Given the description of an element on the screen output the (x, y) to click on. 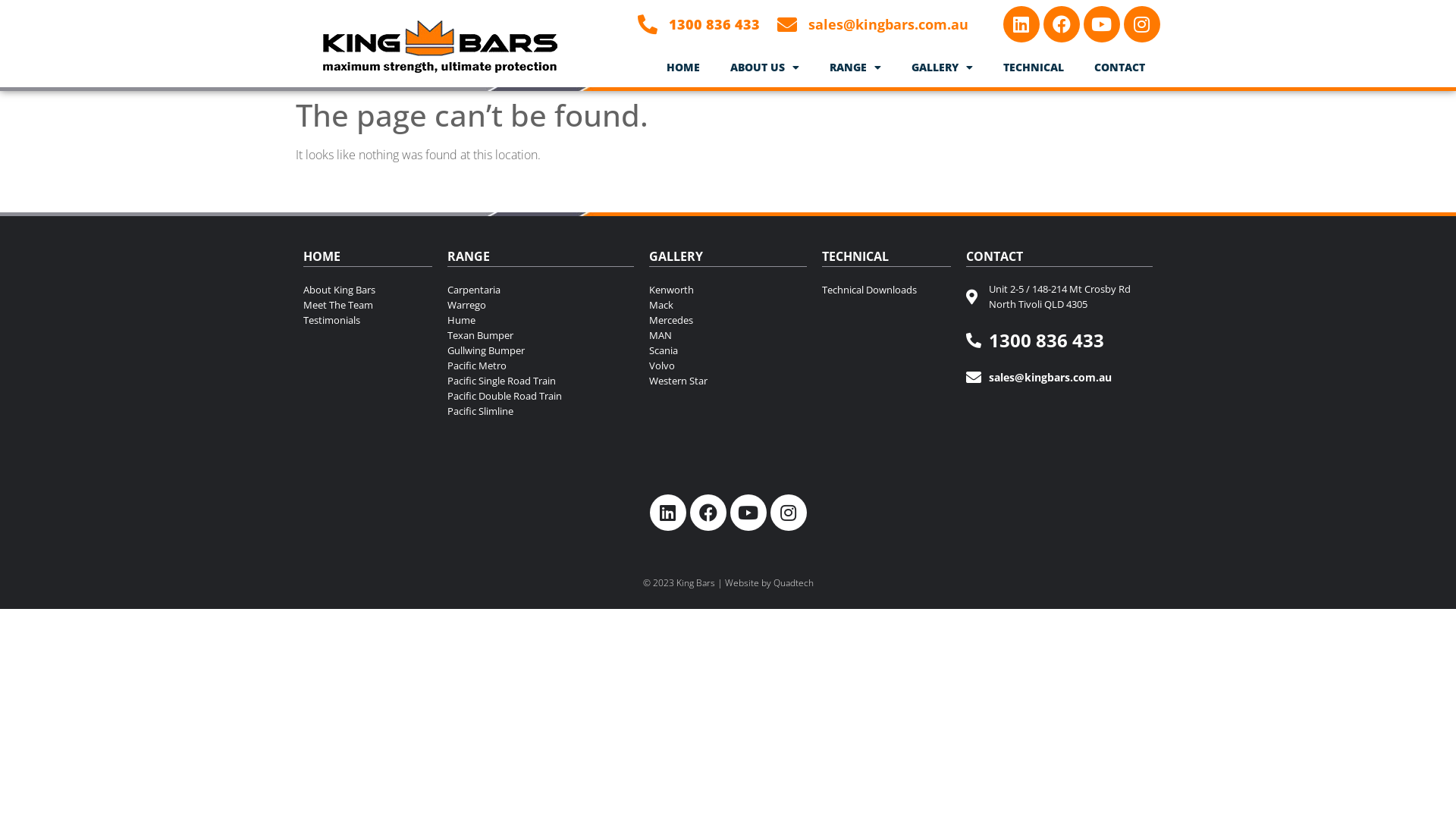
sales@kingbars.com.au Element type: text (1059, 377)
Technical Downloads Element type: text (886, 289)
Western Star Element type: text (727, 380)
About King Bars Element type: text (367, 289)
Scania Element type: text (727, 349)
RANGE Element type: text (855, 67)
HOME Element type: text (683, 67)
Pacific Single Road Train Element type: text (540, 380)
GALLERY Element type: text (942, 67)
Carpentaria Element type: text (540, 289)
MAN Element type: text (727, 334)
1300 836 433 Element type: text (1059, 340)
Pacific Metro Element type: text (540, 365)
Texan Bumper Element type: text (540, 334)
Testimonials Element type: text (367, 319)
Pacific Double Road Train Element type: text (540, 395)
Warrego Element type: text (540, 304)
Website by Quadtech Element type: text (768, 582)
sales@kingbars.com.au Element type: text (869, 23)
ABOUT US Element type: text (764, 67)
Mercedes Element type: text (727, 319)
Mack Element type: text (727, 304)
Pacific Slimline Element type: text (540, 410)
Volvo Element type: text (727, 365)
Meet The Team Element type: text (367, 304)
Gullwing Bumper Element type: text (540, 349)
TECHNICAL Element type: text (1033, 67)
1300 836 433 Element type: text (696, 23)
Hume Element type: text (540, 319)
CONTACT Element type: text (1119, 67)
Kenworth Element type: text (727, 289)
